Given the description of an element on the screen output the (x, y) to click on. 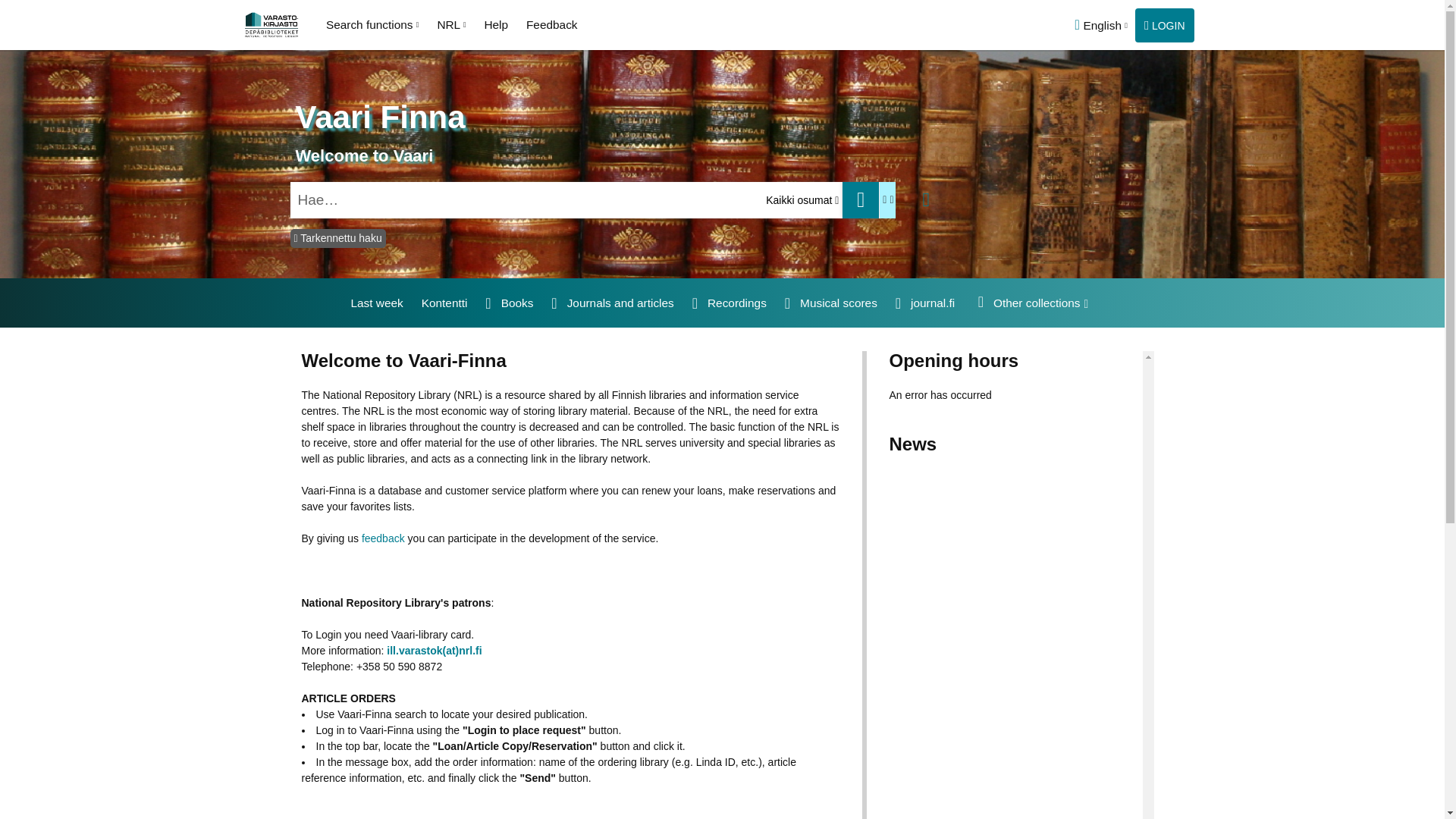
Musical scores (830, 303)
Tarkennettu haku (337, 238)
English (1100, 25)
Skip to content (2, 2)
Kaikki osumat (796, 199)
Feedback (551, 24)
Kontentti (444, 303)
Help (495, 24)
Recordings (729, 303)
FEEDBACK (1395, 26)
Journals and articles (612, 303)
Hae (861, 199)
journal.fi (925, 303)
Home Page (273, 24)
Books (509, 303)
